Given the description of an element on the screen output the (x, y) to click on. 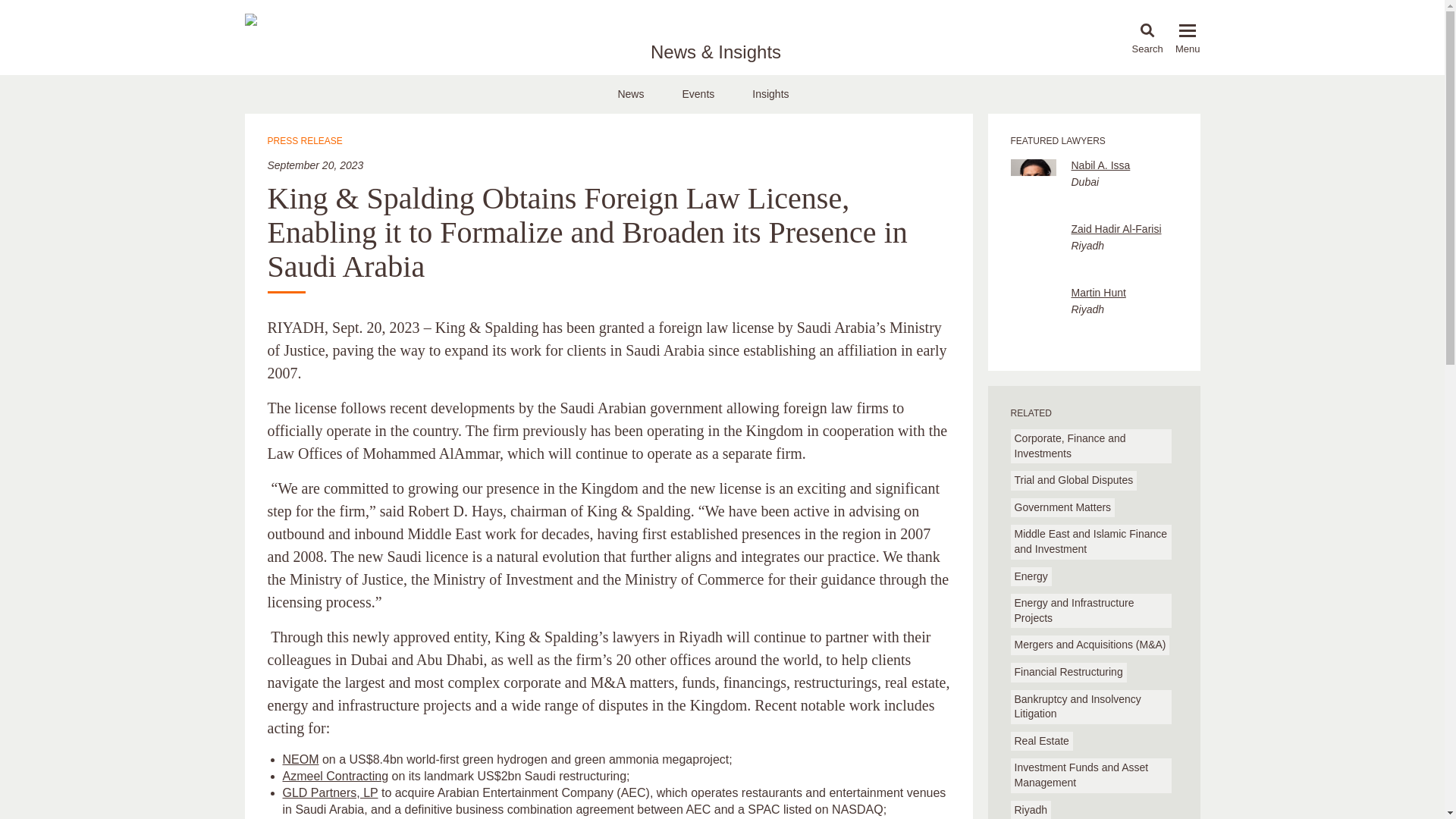
toggle menu (1187, 29)
